Given the description of an element on the screen output the (x, y) to click on. 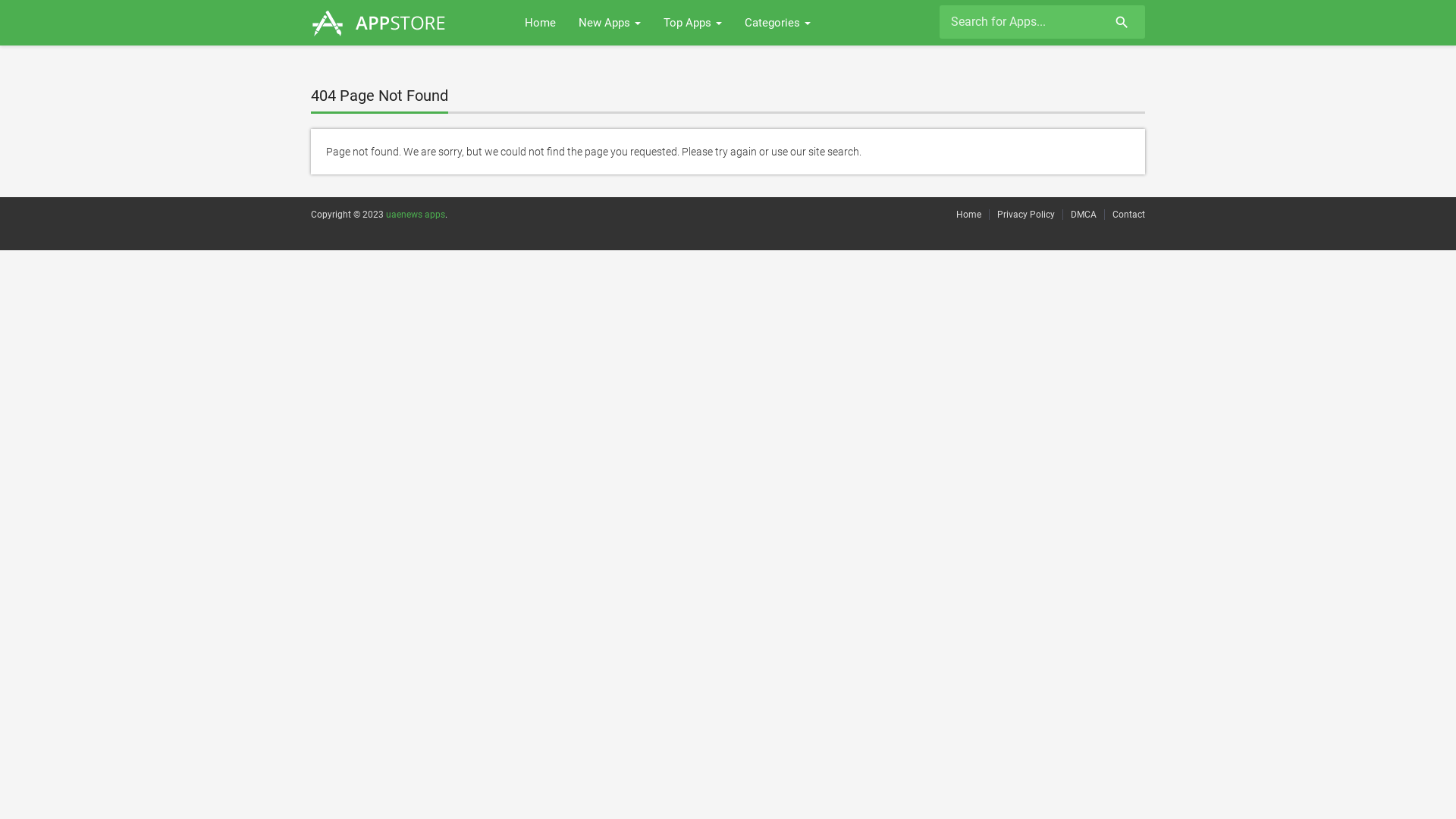
Privacy Policy Element type: text (1025, 214)
search Element type: text (1118, 23)
Top Apps Element type: text (692, 22)
Categories Element type: text (777, 22)
New Apps Element type: text (609, 22)
DMCA Element type: text (1083, 214)
Contact Element type: text (1128, 214)
Home Element type: text (540, 22)
Home Element type: text (968, 214)
